Given the description of an element on the screen output the (x, y) to click on. 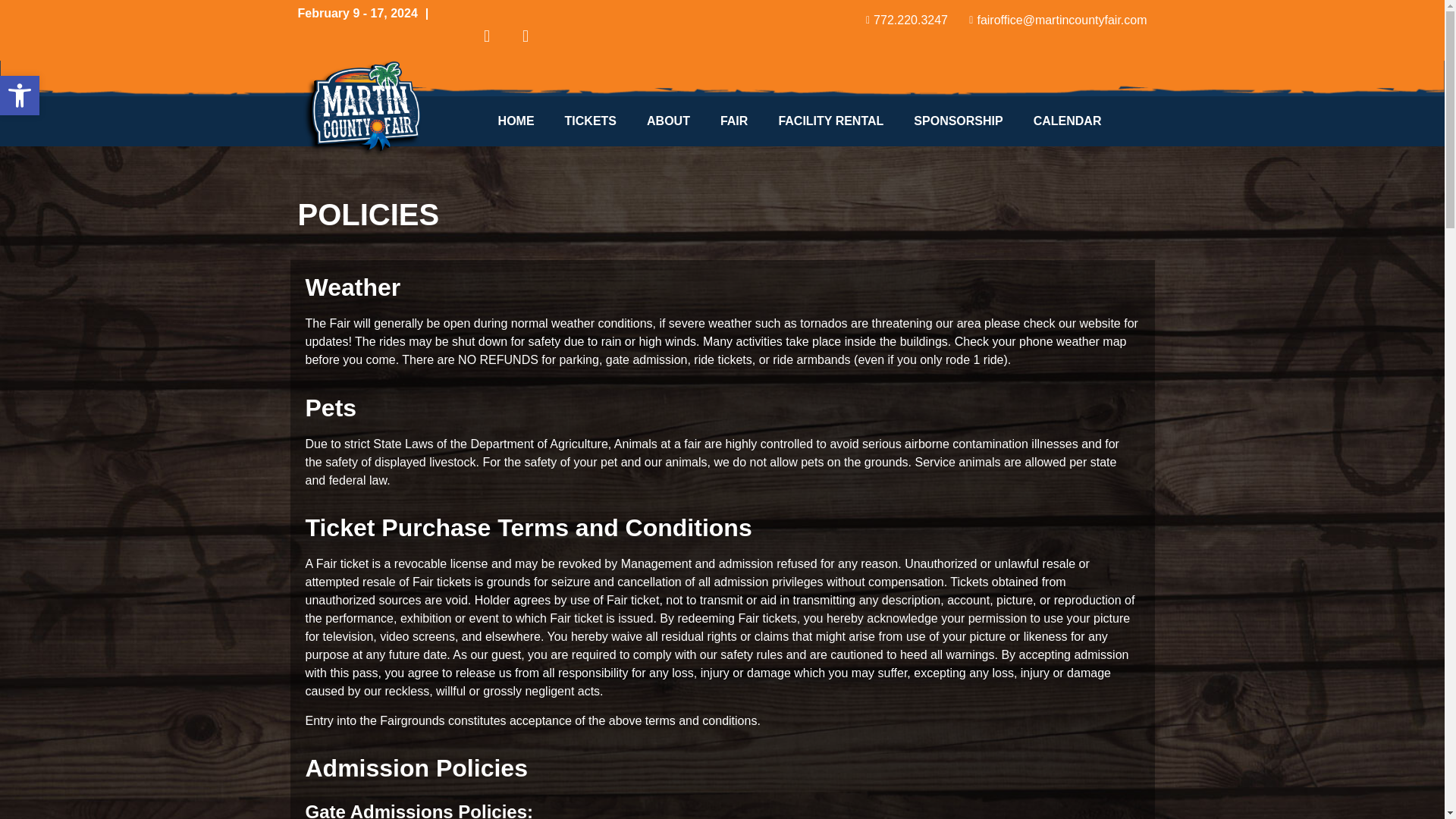
772.220.3247 (902, 20)
TICKETS (590, 121)
FAIR (733, 121)
HOME (516, 121)
CALENDAR (1066, 121)
Accessibility Tools (19, 95)
ABOUT (667, 121)
FACILITY RENTAL (19, 95)
Accessibility Tools (830, 121)
SPONSORSHIP (19, 95)
